Given the description of an element on the screen output the (x, y) to click on. 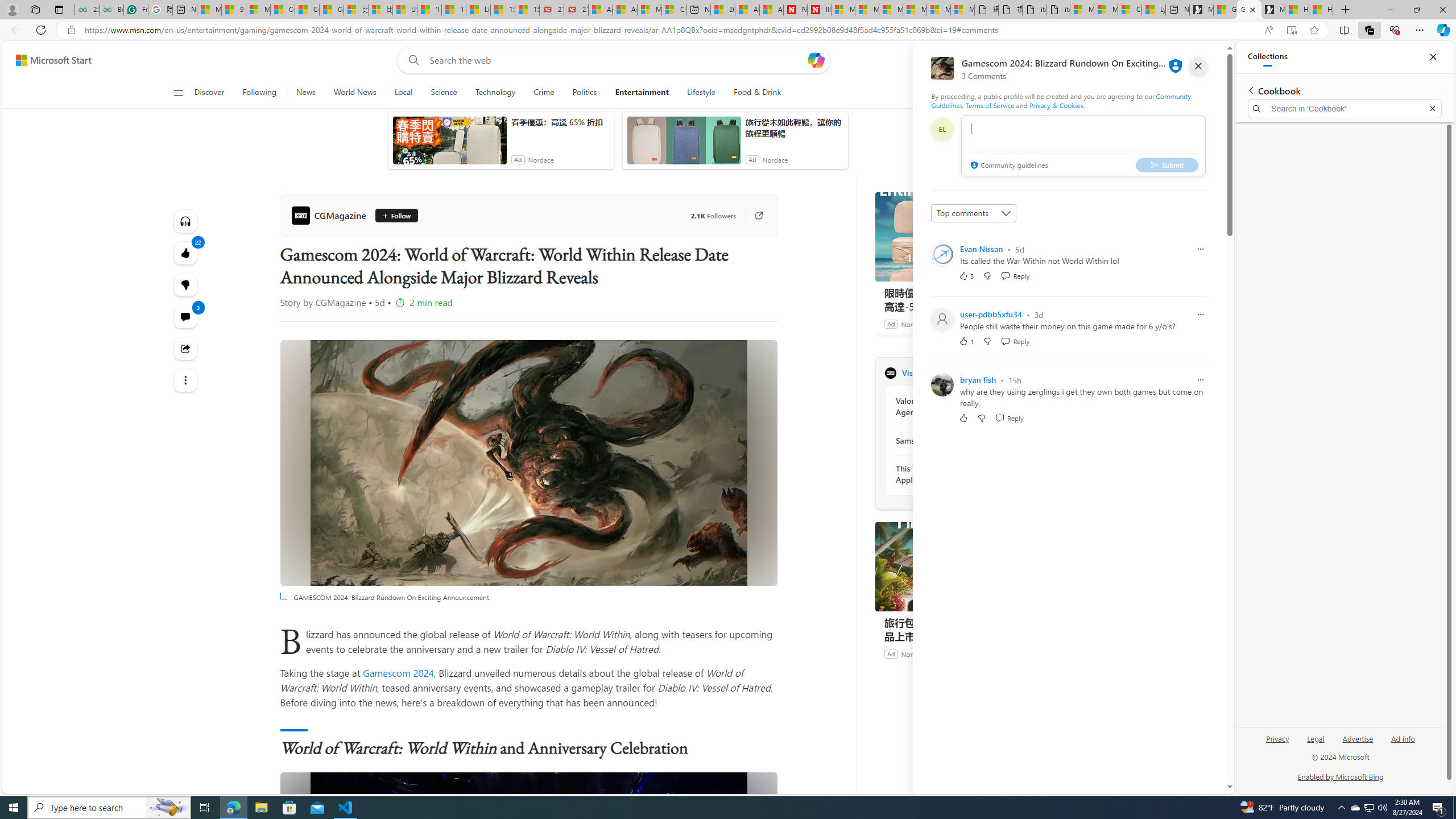
Share this story (184, 348)
Profile Picture (941, 384)
Reply Reply Comment (1008, 418)
Visit CGMagazine website (1031, 372)
Evan Nissan (981, 248)
